Given the description of an element on the screen output the (x, y) to click on. 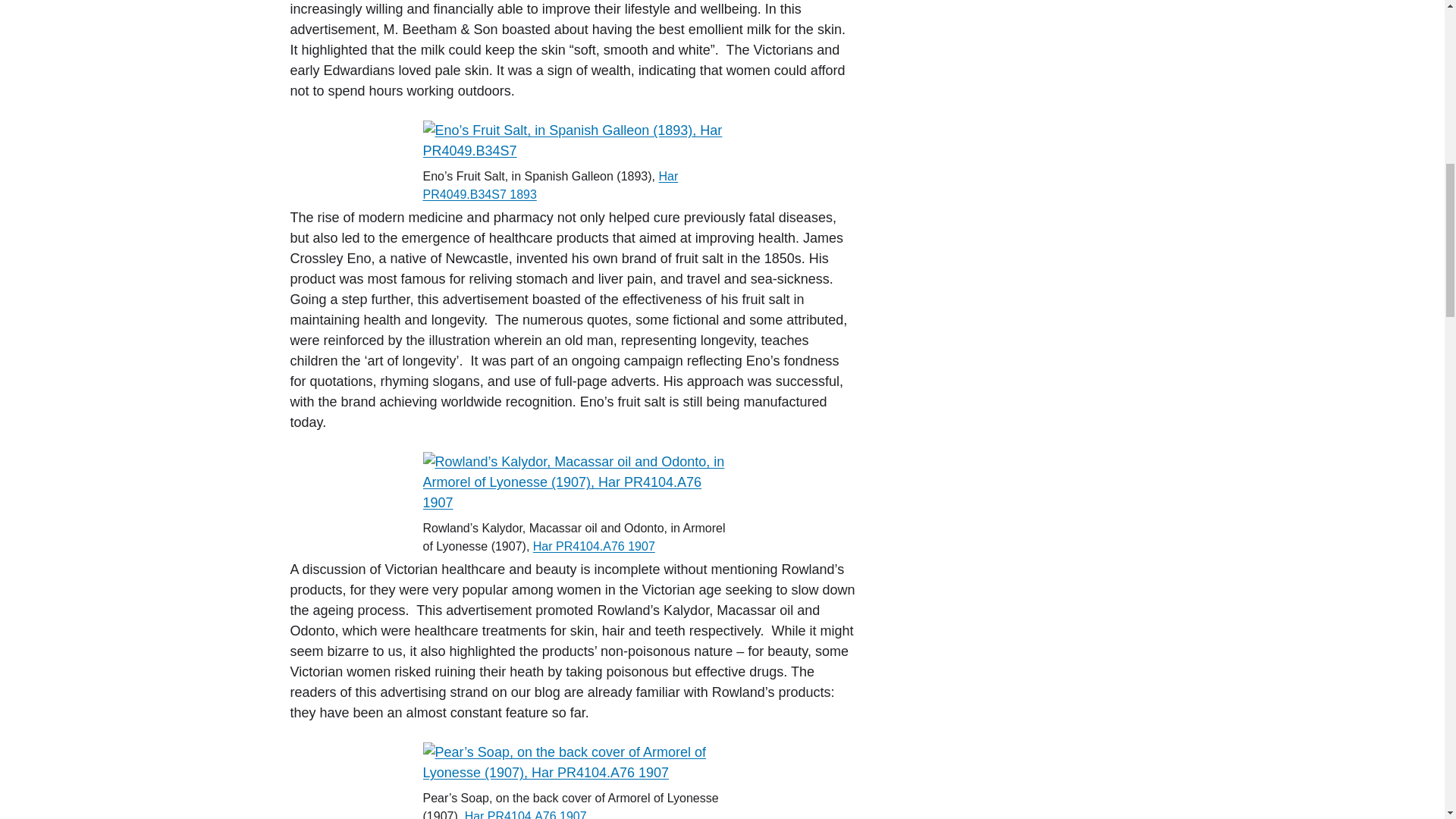
Har PR4049.B34S7 1893 (550, 184)
Har PR4104.A76 1907 (525, 814)
Har PR4104.A76 1907 (593, 545)
